Given the description of an element on the screen output the (x, y) to click on. 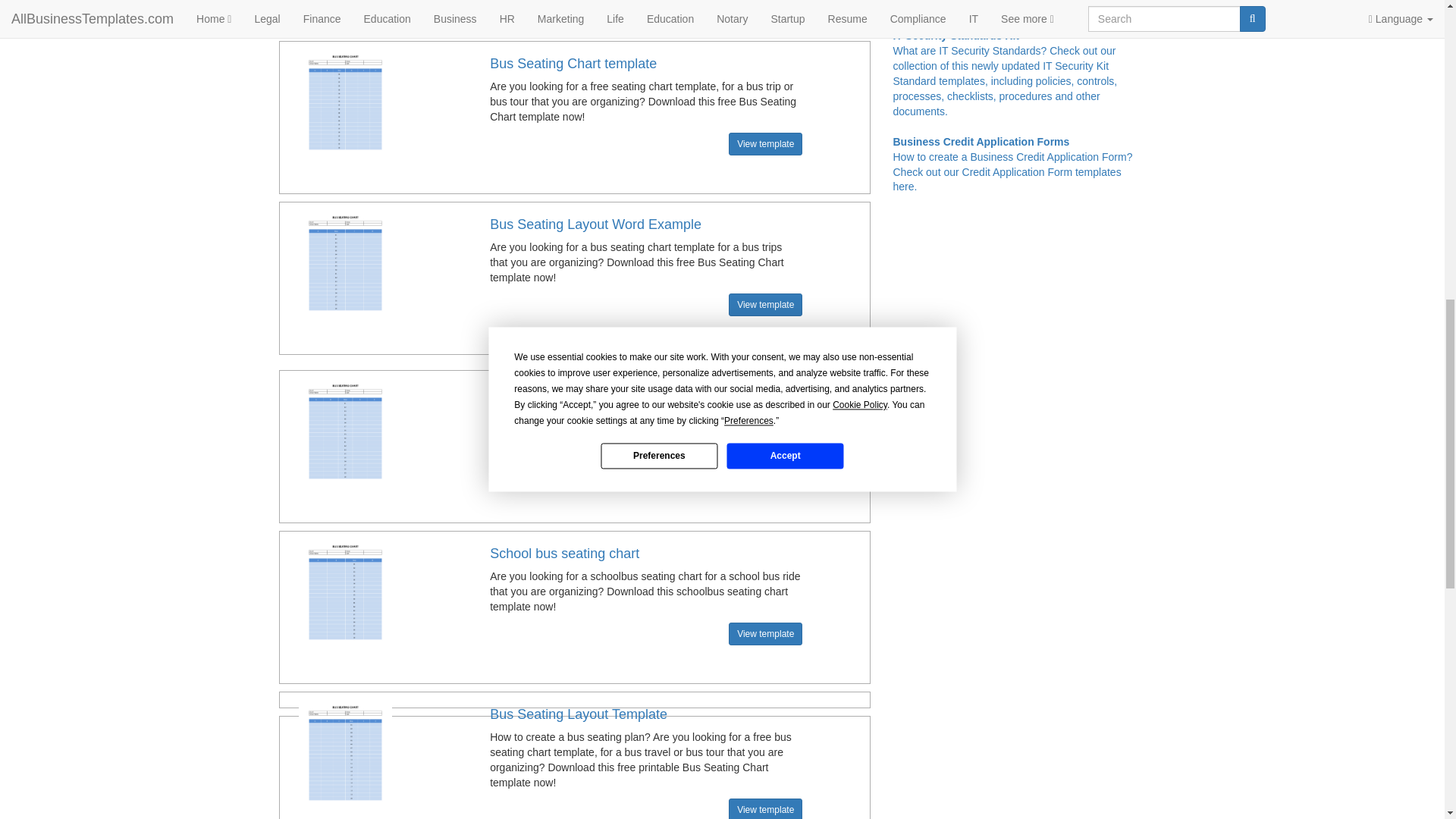
View template (765, 143)
Bus Seating Layout Word Example (595, 224)
Bus Seating Chart template (572, 63)
